Given the description of an element on the screen output the (x, y) to click on. 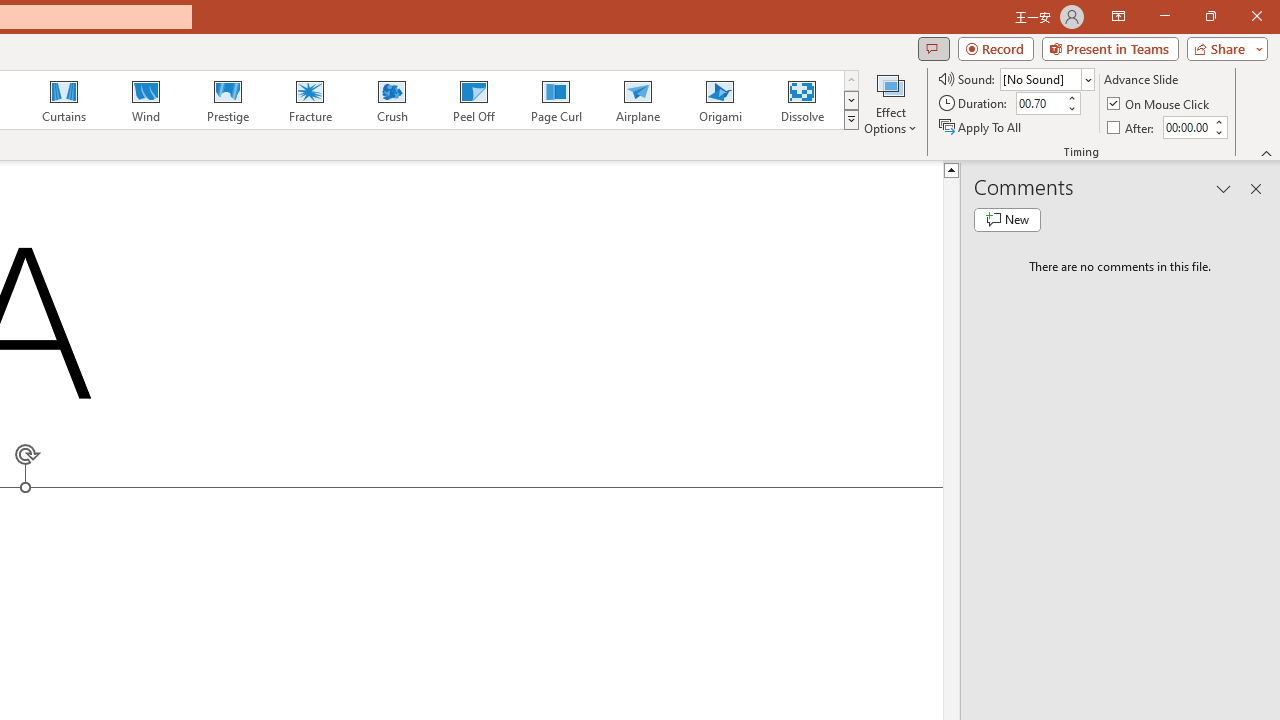
After (1186, 127)
Dissolve (802, 100)
Peel Off (473, 100)
New comment (1007, 219)
Apply To All (981, 126)
Origami (719, 100)
